Given the description of an element on the screen output the (x, y) to click on. 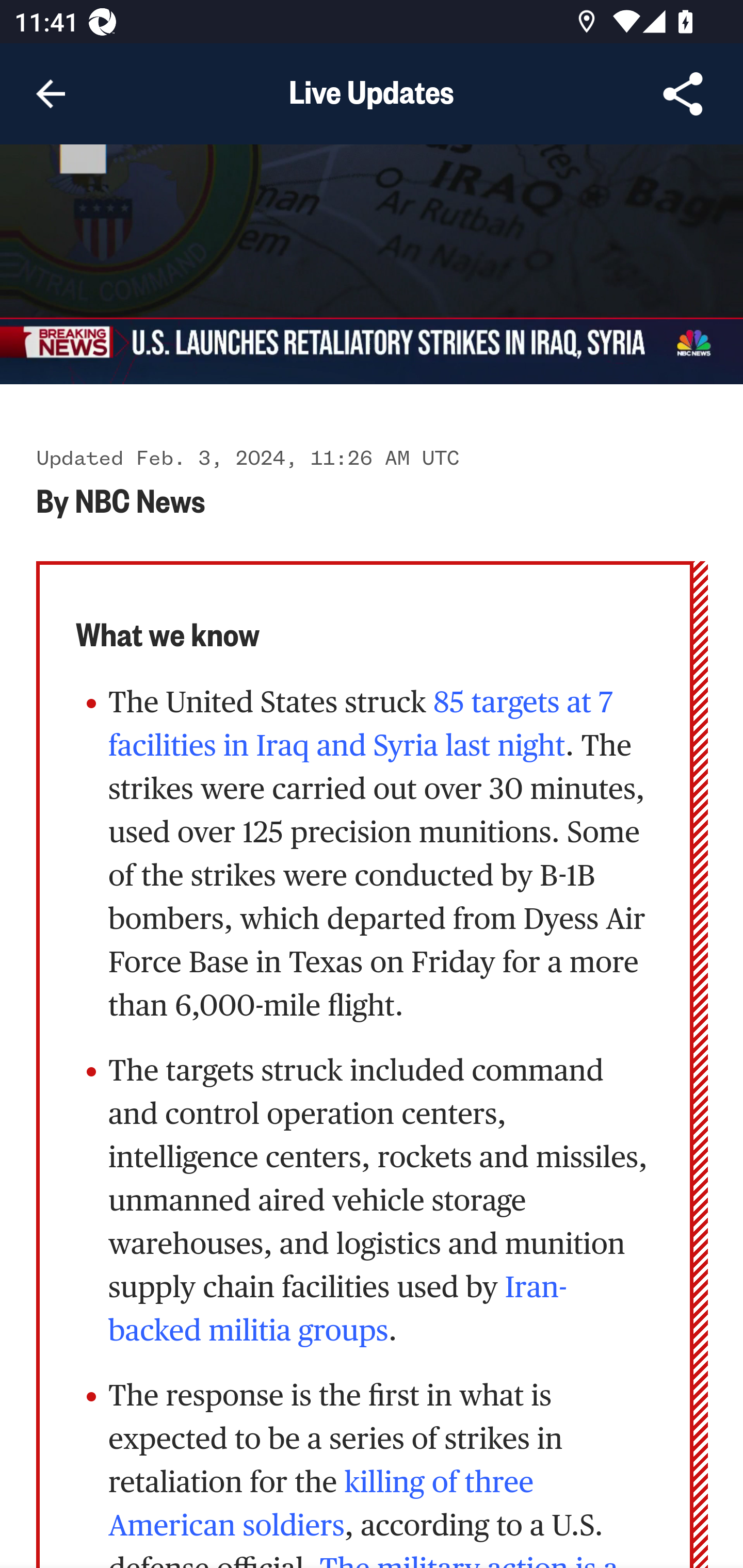
Navigate up (50, 93)
Share Article, button (683, 94)
Iran-backed militia groups (338, 1310)
killing of three American soldiers (321, 1506)
